Given the description of an element on the screen output the (x, y) to click on. 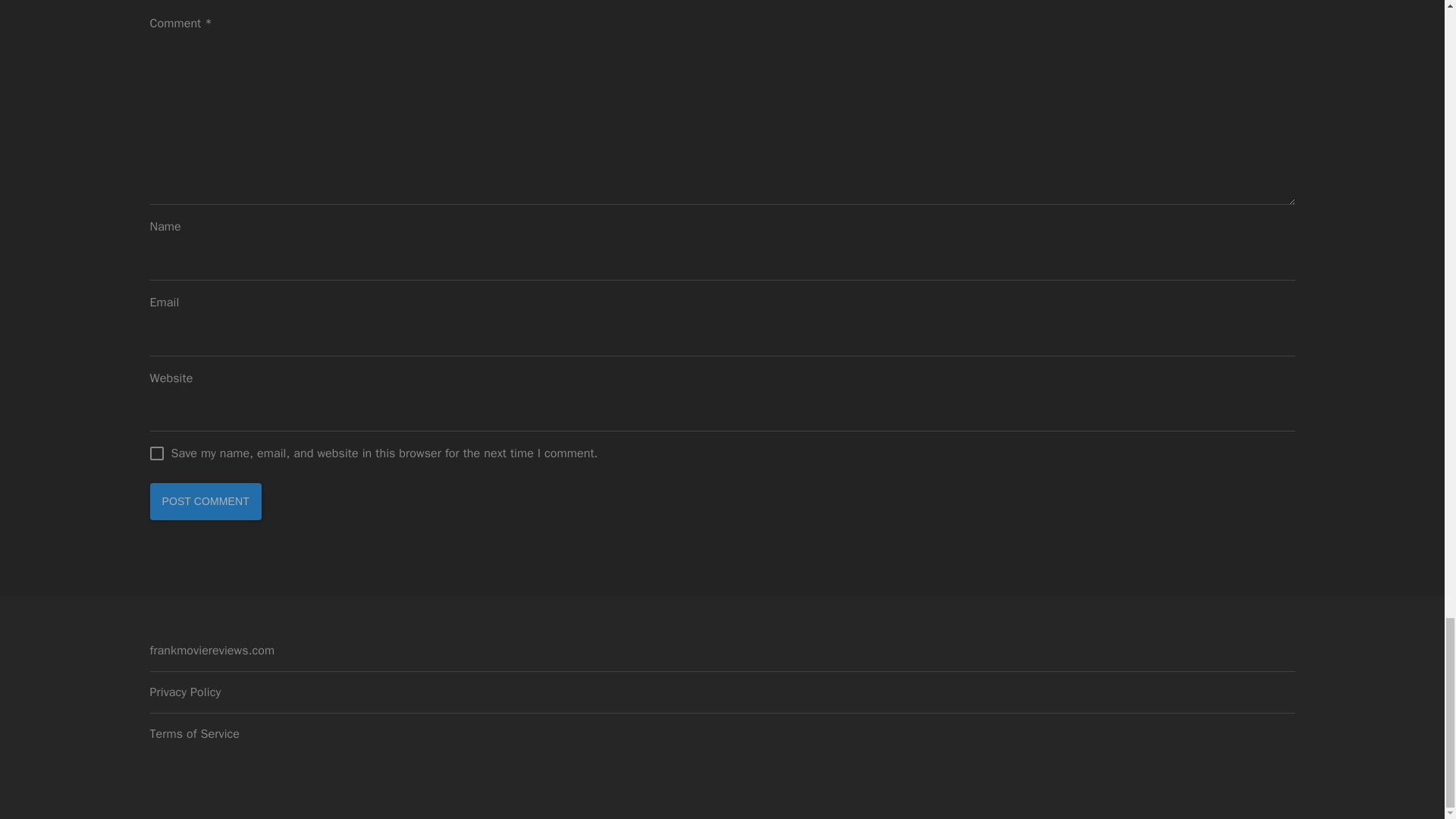
Privacy Policy (185, 692)
Terms of Service (194, 734)
yes (158, 453)
Post Comment (205, 501)
Post Comment (205, 501)
frankmoviereviews.com (212, 650)
